Given the description of an element on the screen output the (x, y) to click on. 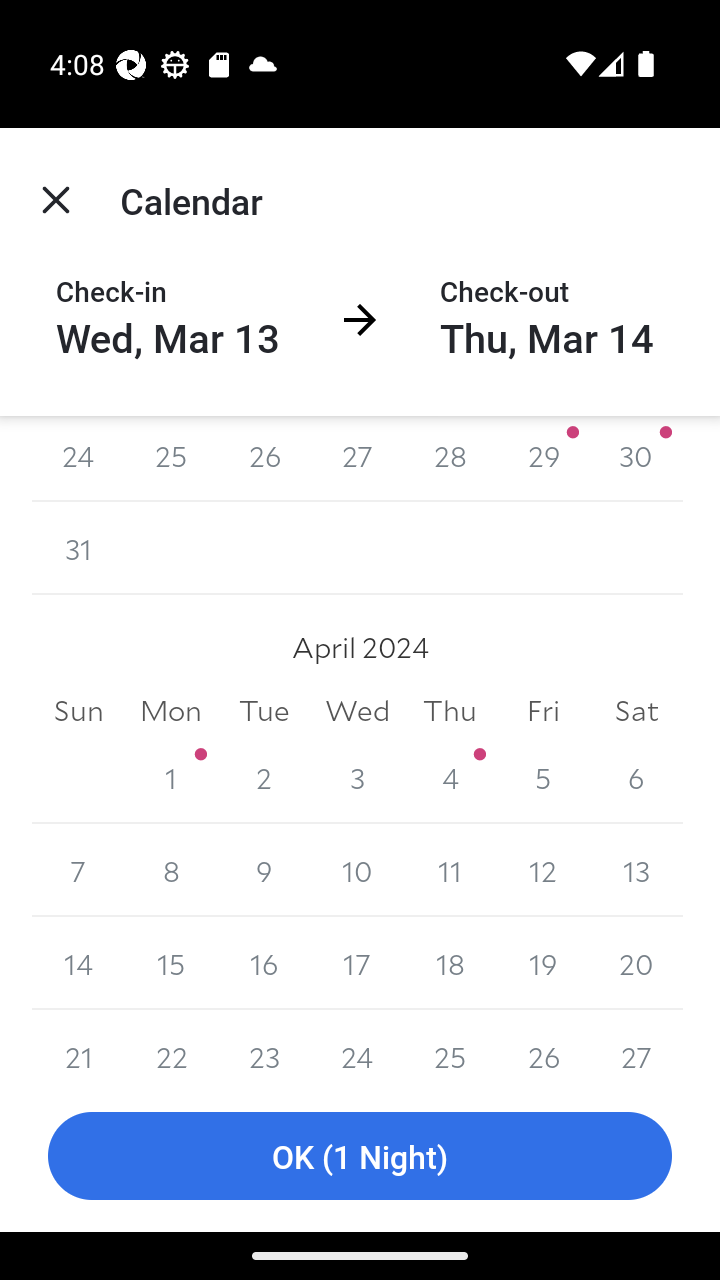
24 24 March 2024 (78, 458)
25 25 March 2024 (171, 458)
26 26 March 2024 (264, 458)
27 27 March 2024 (357, 458)
28 28 March 2024 (449, 458)
29 29 March 2024 (542, 458)
30 30 March 2024 (636, 458)
31 31 March 2024 (78, 548)
Sun (78, 709)
Mon (171, 709)
Tue (264, 709)
Wed (357, 709)
Thu (449, 709)
Fri (542, 709)
Sat (636, 709)
1 1 April 2024 (171, 777)
2 2 April 2024 (264, 777)
3 3 April 2024 (357, 777)
4 4 April 2024 (449, 777)
5 5 April 2024 (542, 777)
6 6 April 2024 (636, 777)
7 7 April 2024 (78, 870)
8 8 April 2024 (171, 870)
9 9 April 2024 (264, 870)
10 10 April 2024 (357, 870)
11 11 April 2024 (449, 870)
12 12 April 2024 (542, 870)
13 13 April 2024 (636, 870)
14 14 April 2024 (78, 962)
15 15 April 2024 (171, 962)
16 16 April 2024 (264, 962)
17 17 April 2024 (357, 962)
18 18 April 2024 (449, 962)
19 19 April 2024 (542, 962)
20 20 April 2024 (636, 962)
21 21 April 2024 (78, 1044)
22 22 April 2024 (171, 1044)
23 23 April 2024 (264, 1044)
24 24 April 2024 (357, 1044)
25 25 April 2024 (449, 1044)
26 26 April 2024 (542, 1044)
27 27 April 2024 (636, 1044)
OK (1 Night) (359, 1156)
